Given the description of an element on the screen output the (x, y) to click on. 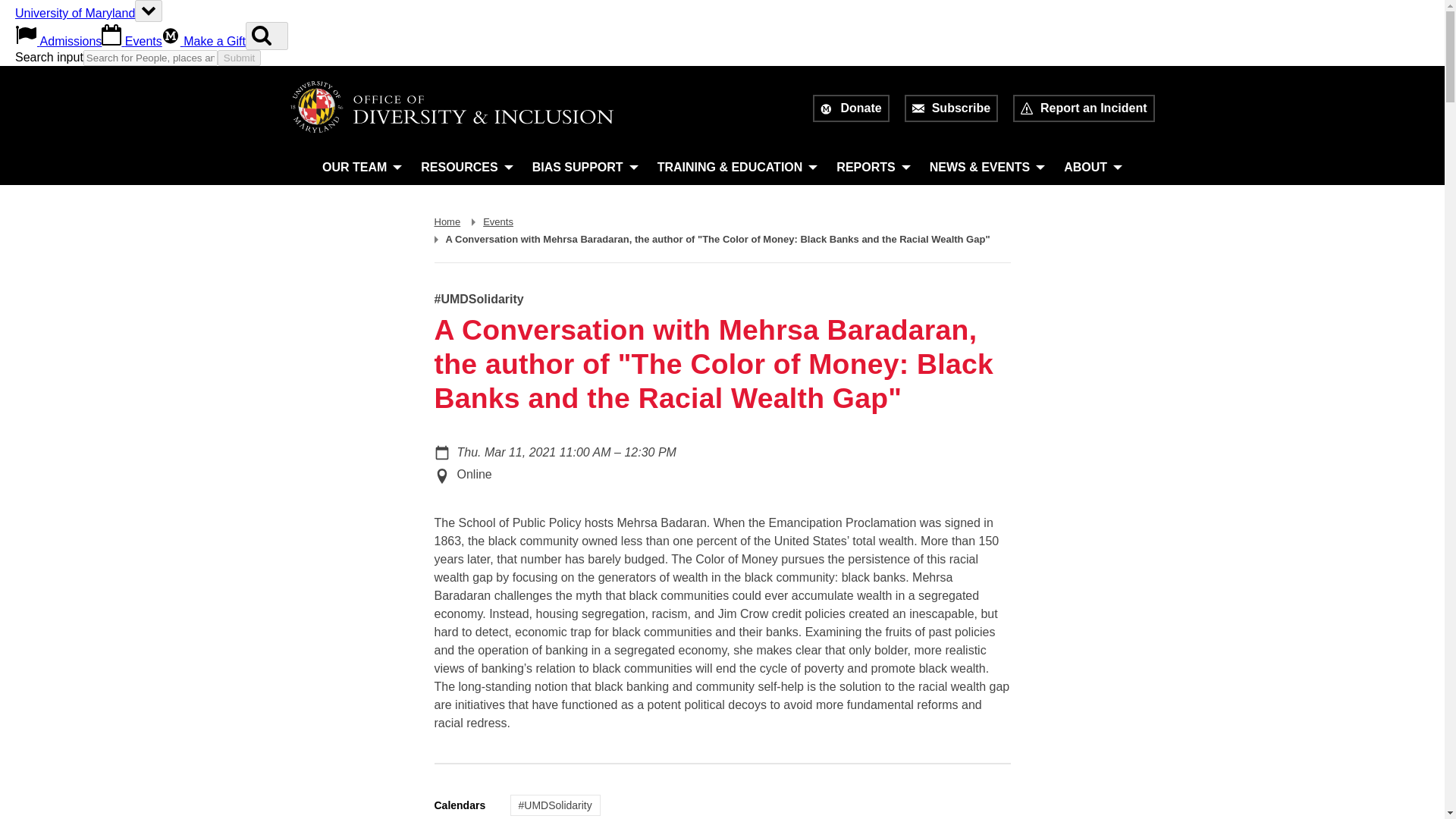
REPORTS (873, 167)
BIAS SUPPORT (585, 167)
Subscribe (950, 108)
OUR TEAM (362, 167)
Report an Incident (1083, 108)
RESOURCES (466, 167)
Donate (850, 108)
